Given the description of an element on the screen output the (x, y) to click on. 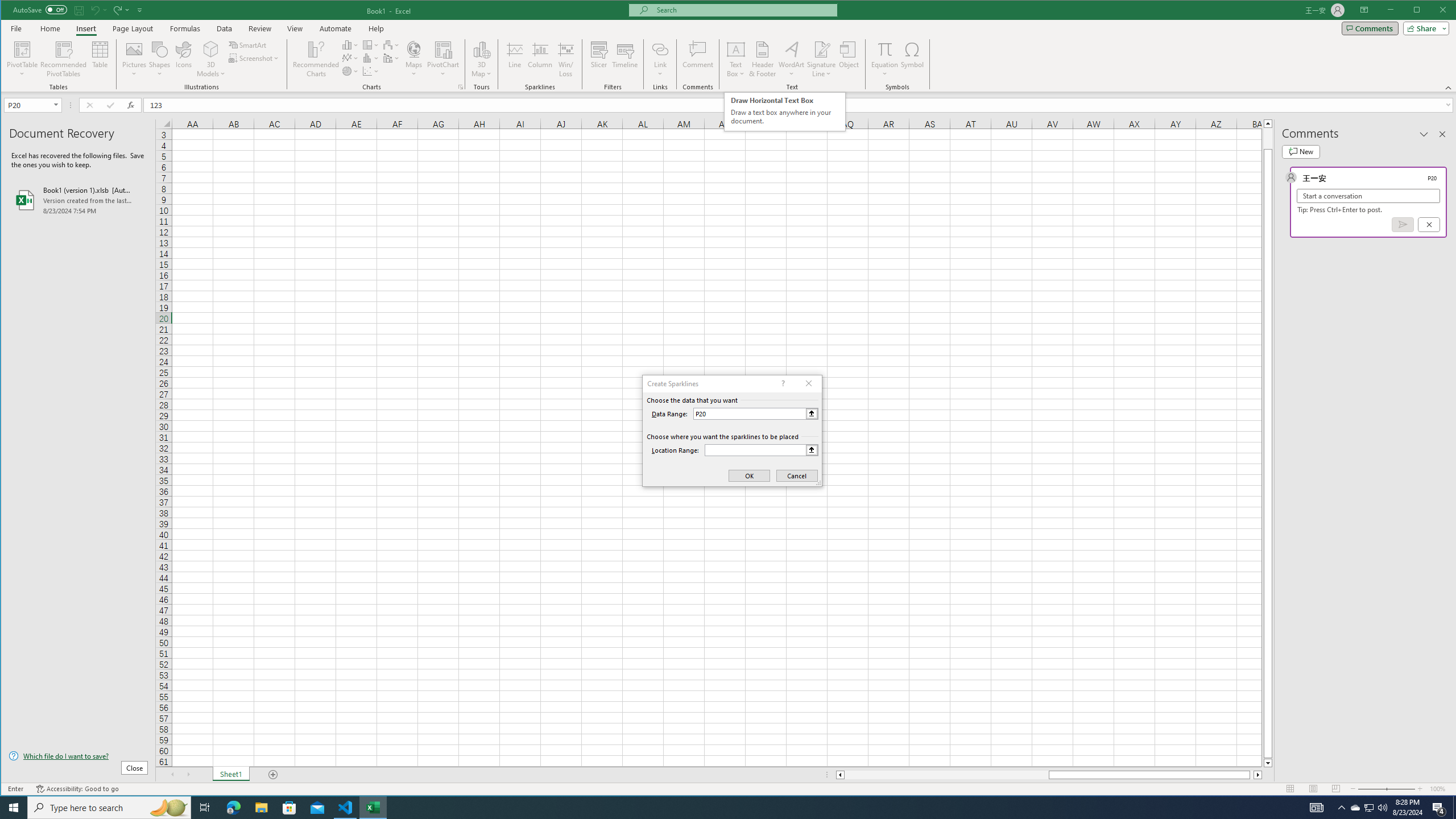
Maximize (1432, 11)
Table (100, 59)
3D Models (211, 59)
Insert Combo Chart (391, 57)
Insert Line or Area Chart (350, 57)
Maps (413, 59)
Insert Hierarchy Chart (371, 44)
Close pane (1441, 133)
Object... (848, 59)
Insert Pie or Doughnut Chart (350, 70)
